Given the description of an element on the screen output the (x, y) to click on. 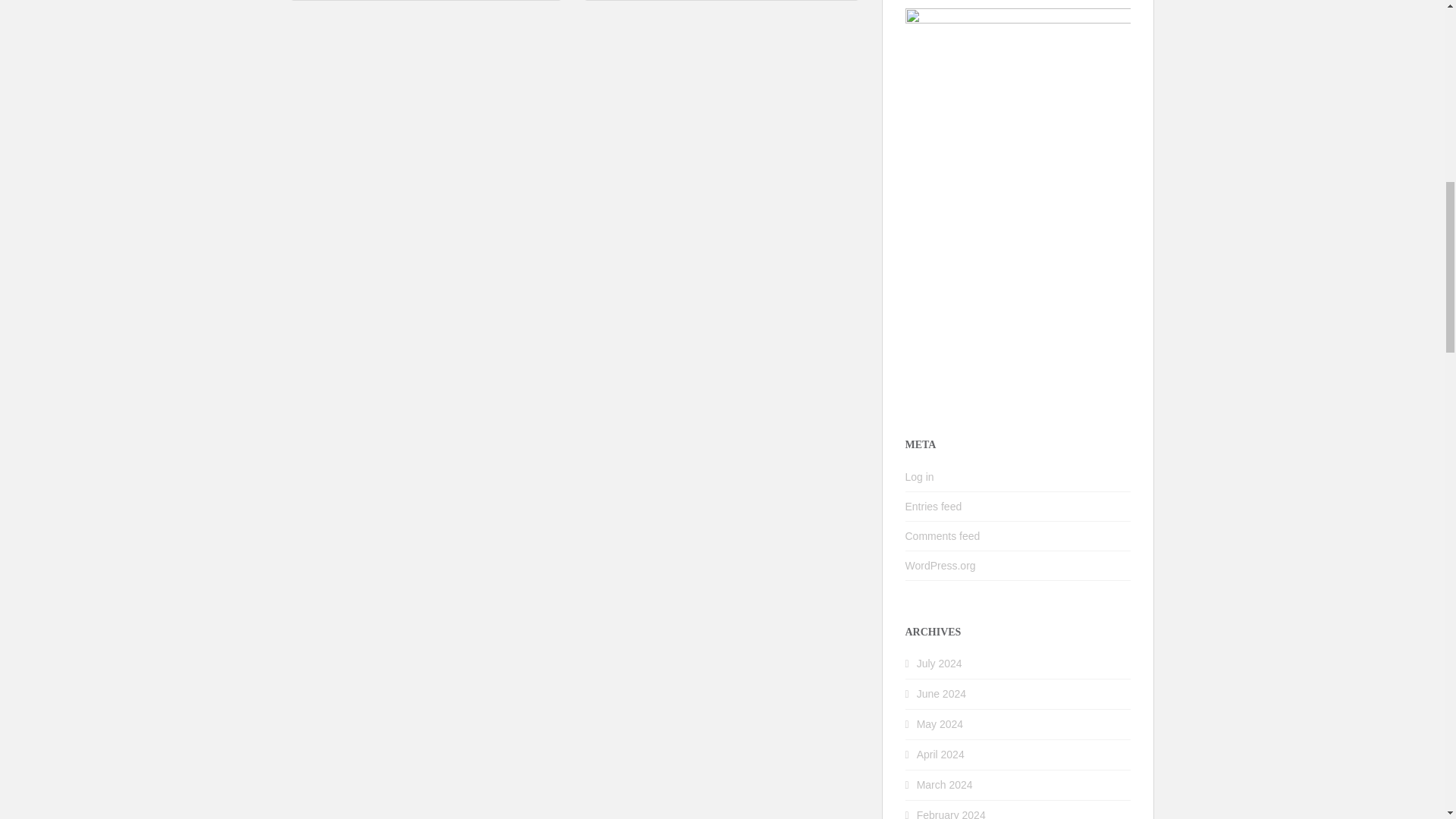
February 2024 (951, 814)
Log in (919, 476)
March 2024 (944, 784)
Comments feed (942, 535)
May 2024 (939, 724)
June 2024 (941, 693)
July 2024 (939, 663)
April 2024 (940, 754)
